Given the description of an element on the screen output the (x, y) to click on. 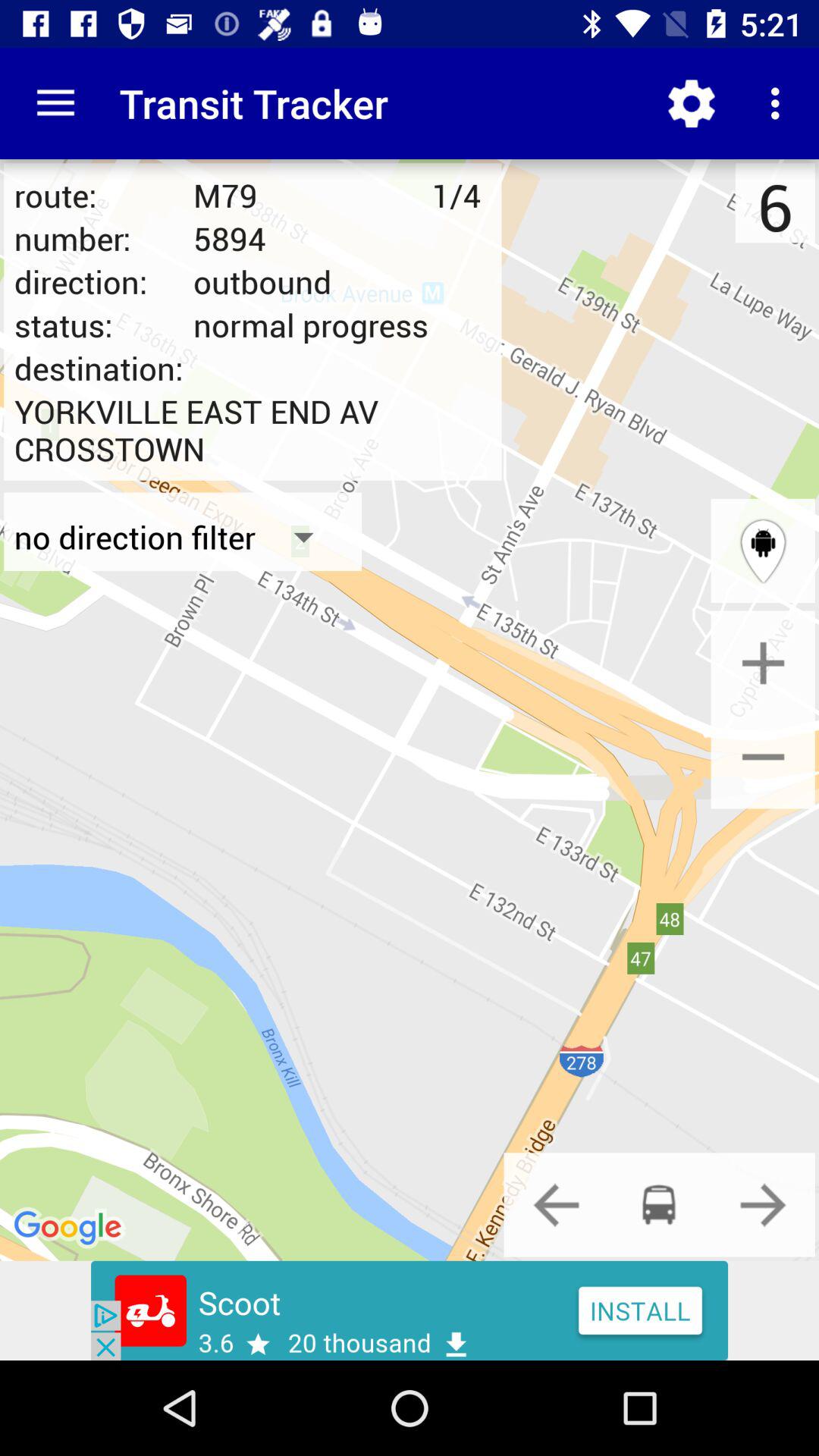
go back (555, 1204)
